Given the description of an element on the screen output the (x, y) to click on. 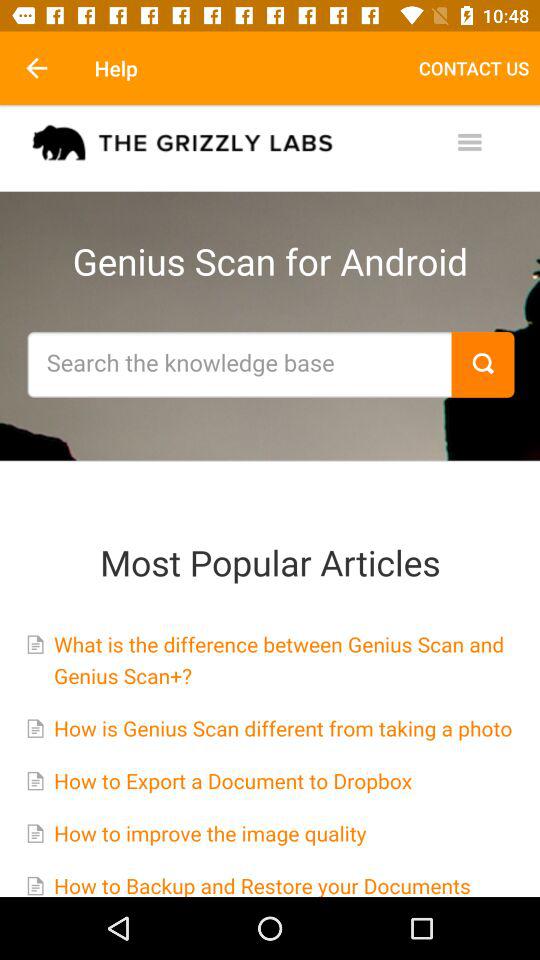
select the item next to help icon (36, 68)
